Given the description of an element on the screen output the (x, y) to click on. 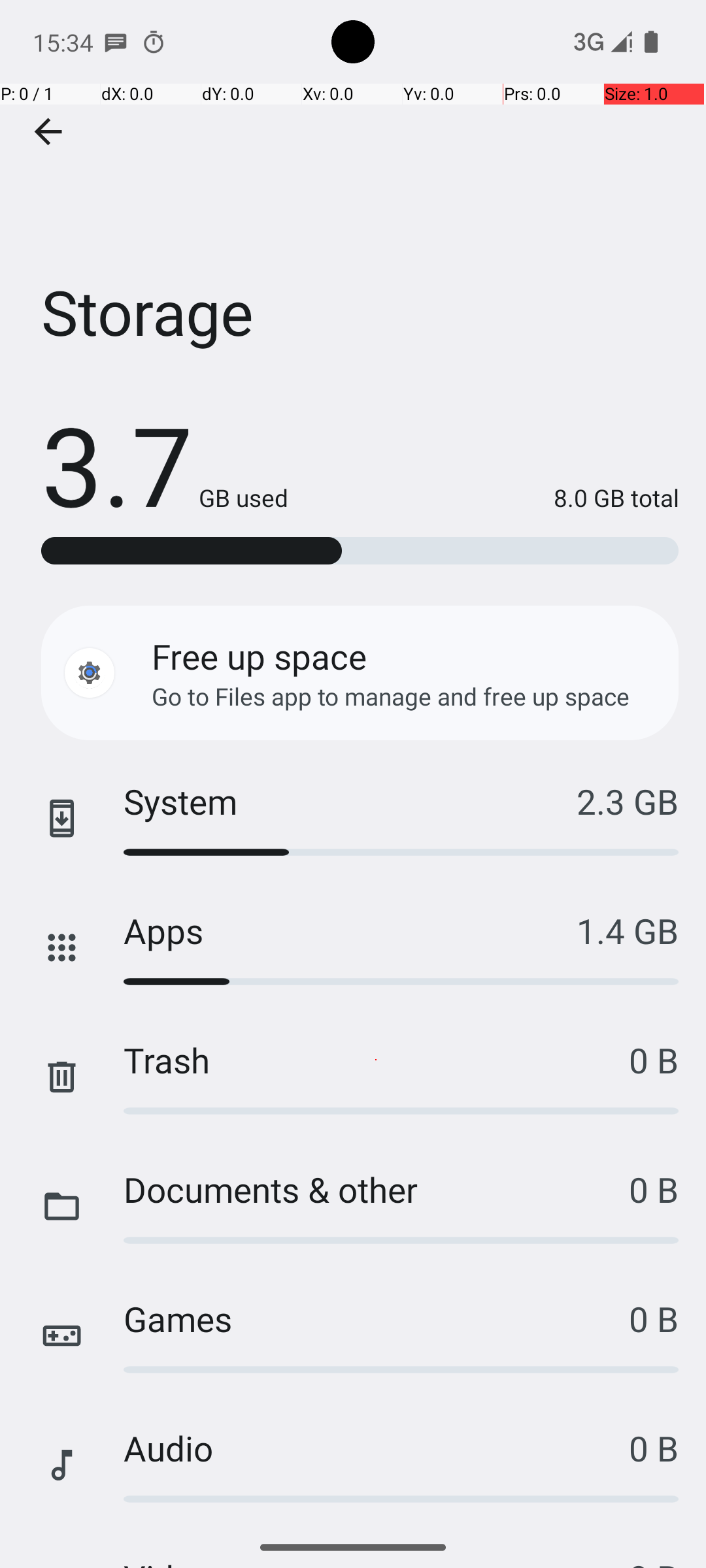
3.7 GB used Element type: android.widget.TextView (164, 463)
